Given the description of an element on the screen output the (x, y) to click on. 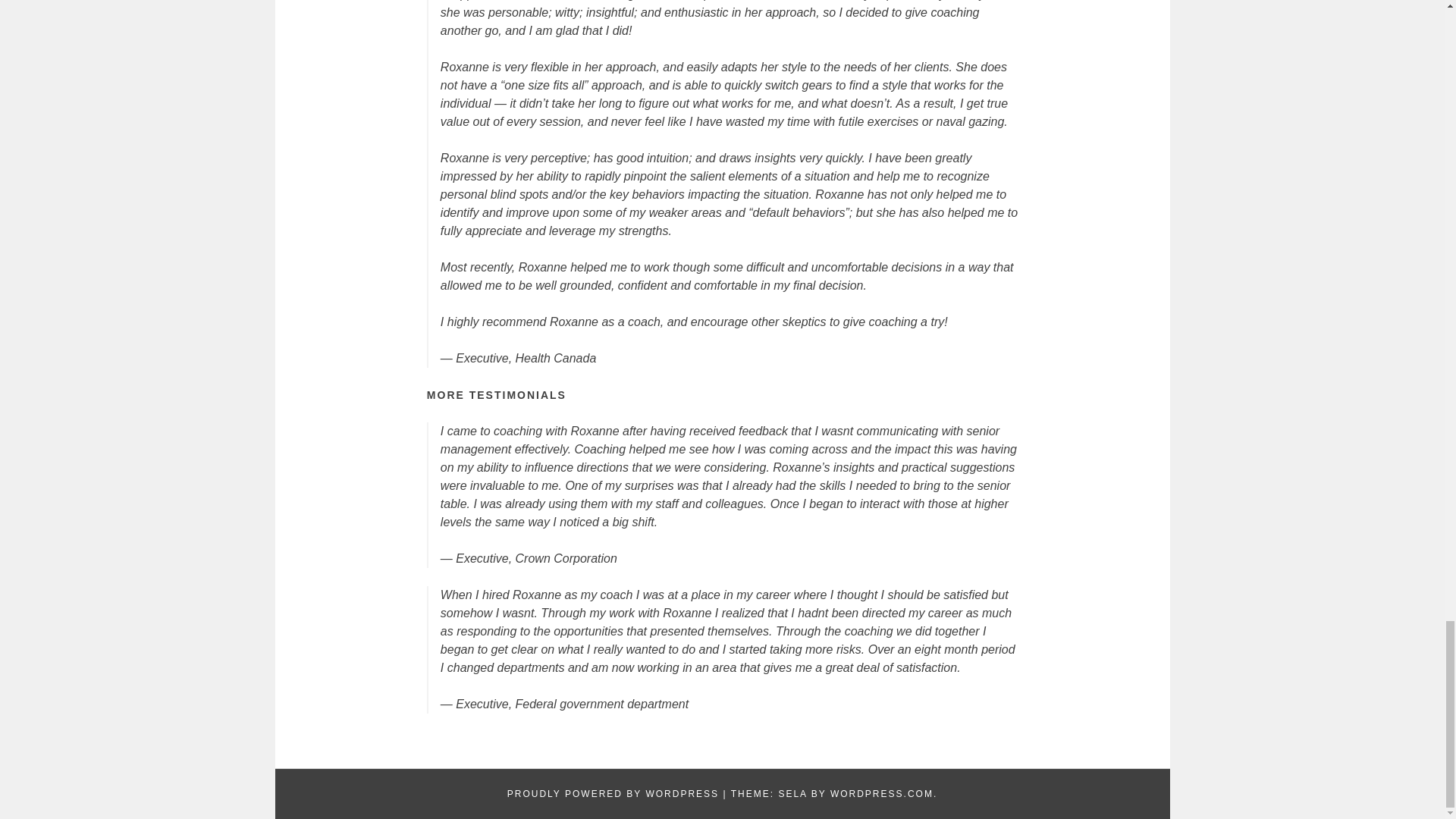
A Semantic Personal Publishing Platform (612, 793)
PROUDLY POWERED BY WORDPRESS (612, 793)
WORDPRESS.COM (881, 793)
